Given the description of an element on the screen output the (x, y) to click on. 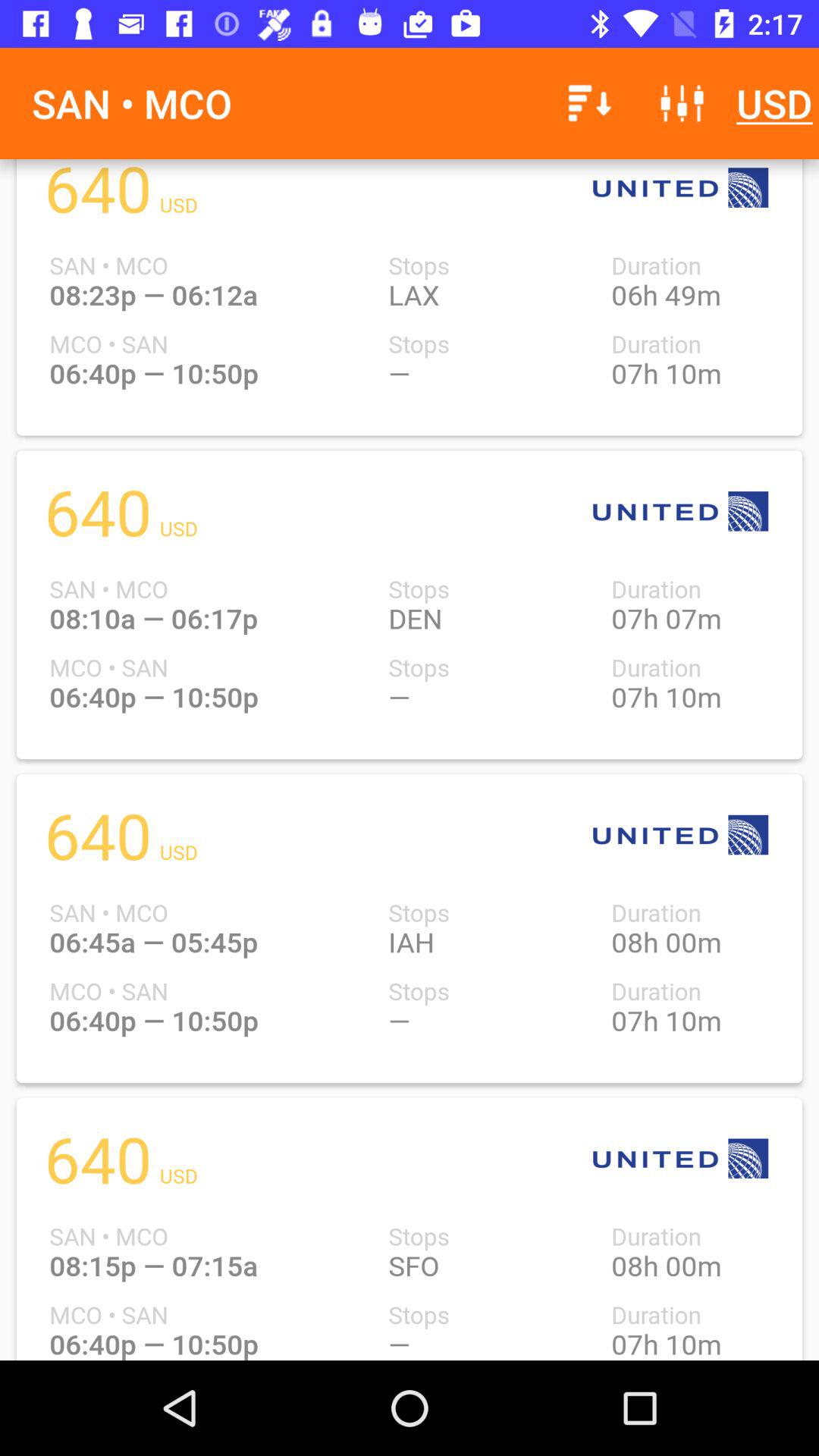
click the icon to the left of the usd (682, 103)
